Given the description of an element on the screen output the (x, y) to click on. 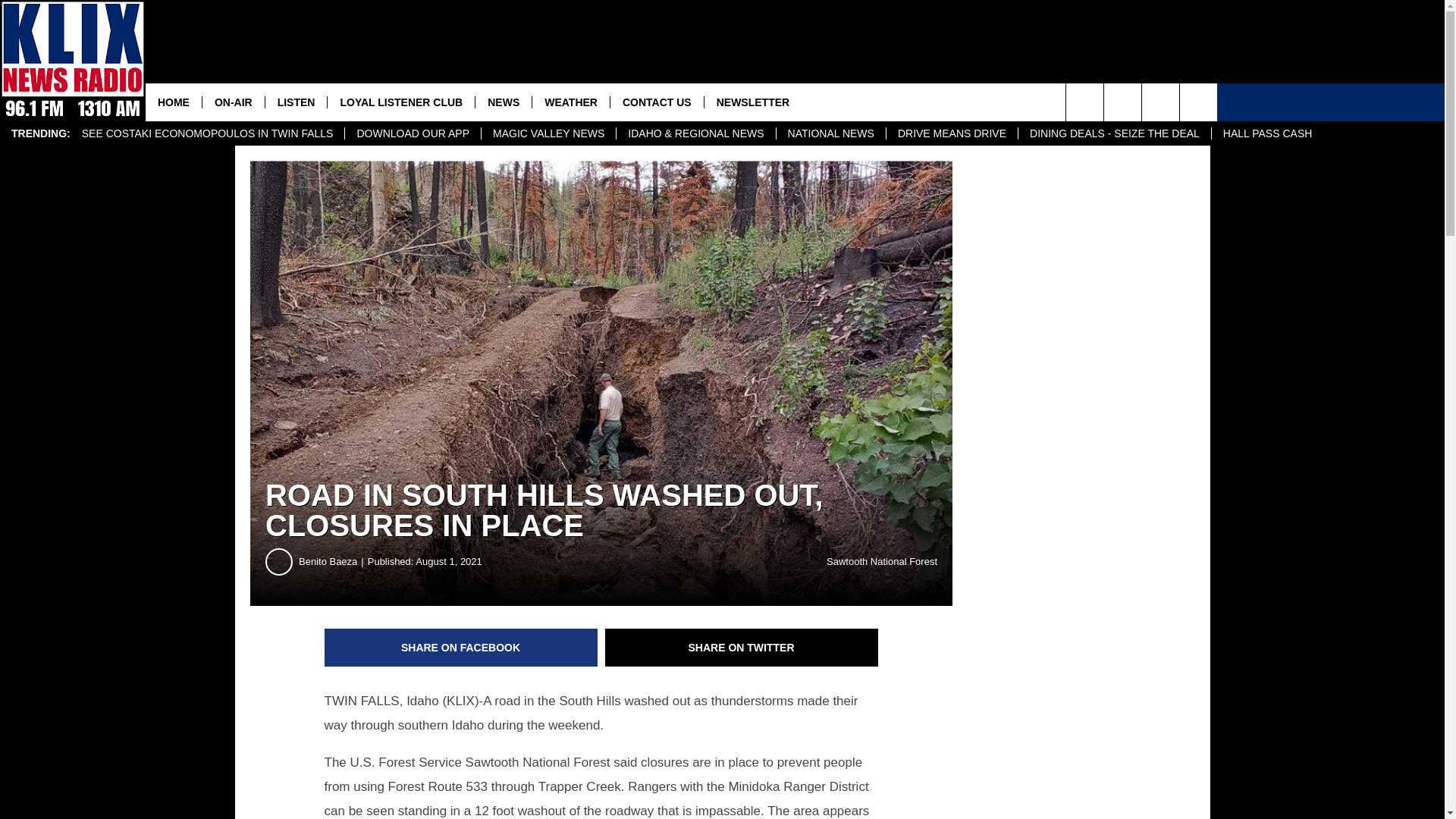
LOYAL LISTENER CLUB (400, 102)
HALL PASS CASH (1267, 133)
NEWS (502, 102)
NATIONAL NEWS (830, 133)
Share on Facebook (460, 647)
DINING DEALS - SEIZE THE DEAL (1114, 133)
HOME (173, 102)
LISTEN (295, 102)
DRIVE MEANS DRIVE (951, 133)
DOWNLOAD OUR APP (411, 133)
